Given the description of an element on the screen output the (x, y) to click on. 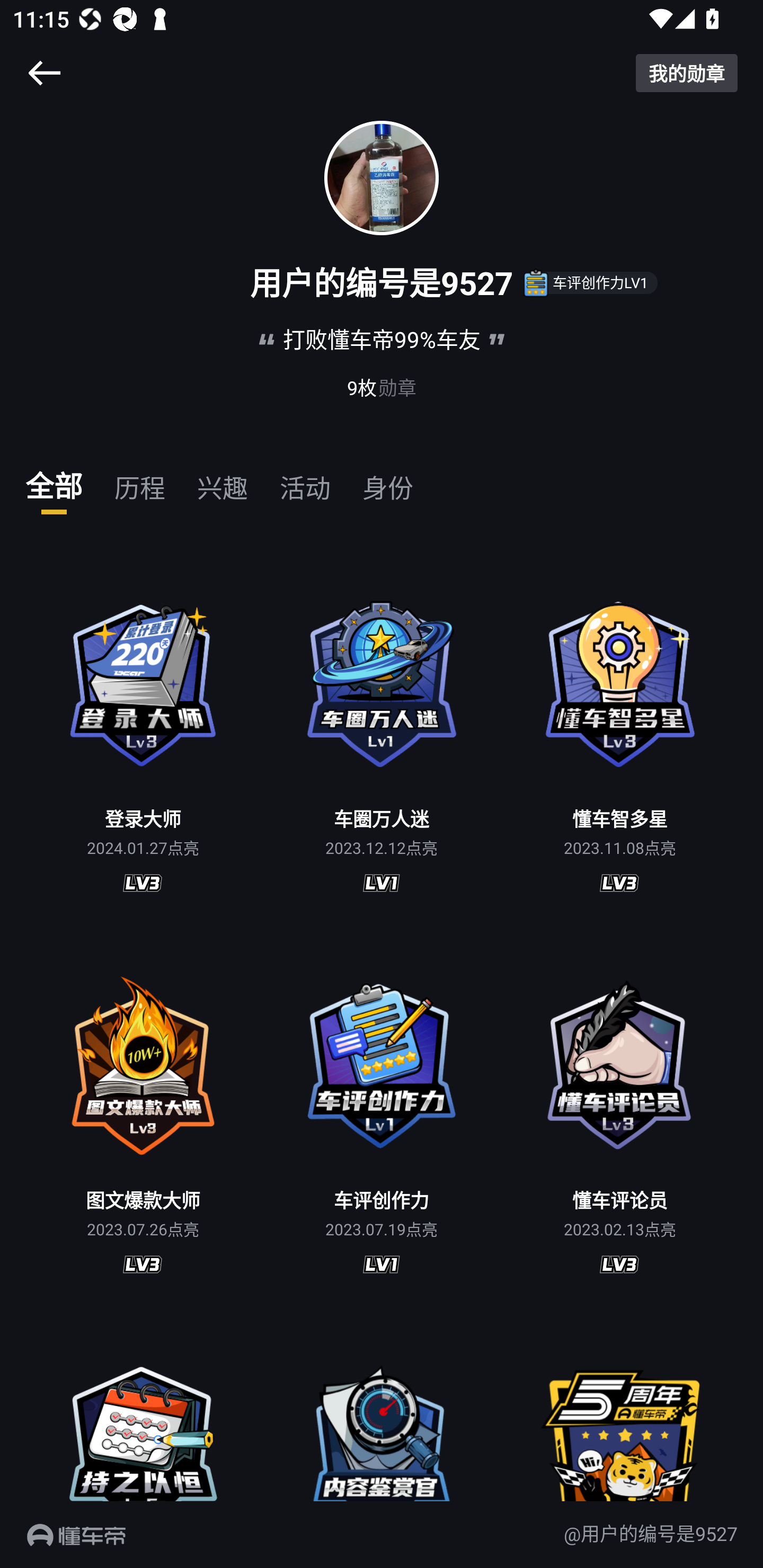
 (44, 72)
我的勋章 (686, 72)
全部 (53, 479)
历程 (139, 479)
兴趣 (222, 479)
活动 (304, 479)
身份 (387, 479)
登录大师 2024.01.27点亮 (142, 731)
车圈万人迷 2023.12.12点亮 (381, 731)
懂车智多星 2023.11.08点亮 (619, 731)
图文爆款大师 2023.07.26点亮 (142, 1113)
车评创作力 2023.07.19点亮 (381, 1113)
懂车评论员 2023.02.13点亮 (619, 1113)
